Given the description of an element on the screen output the (x, y) to click on. 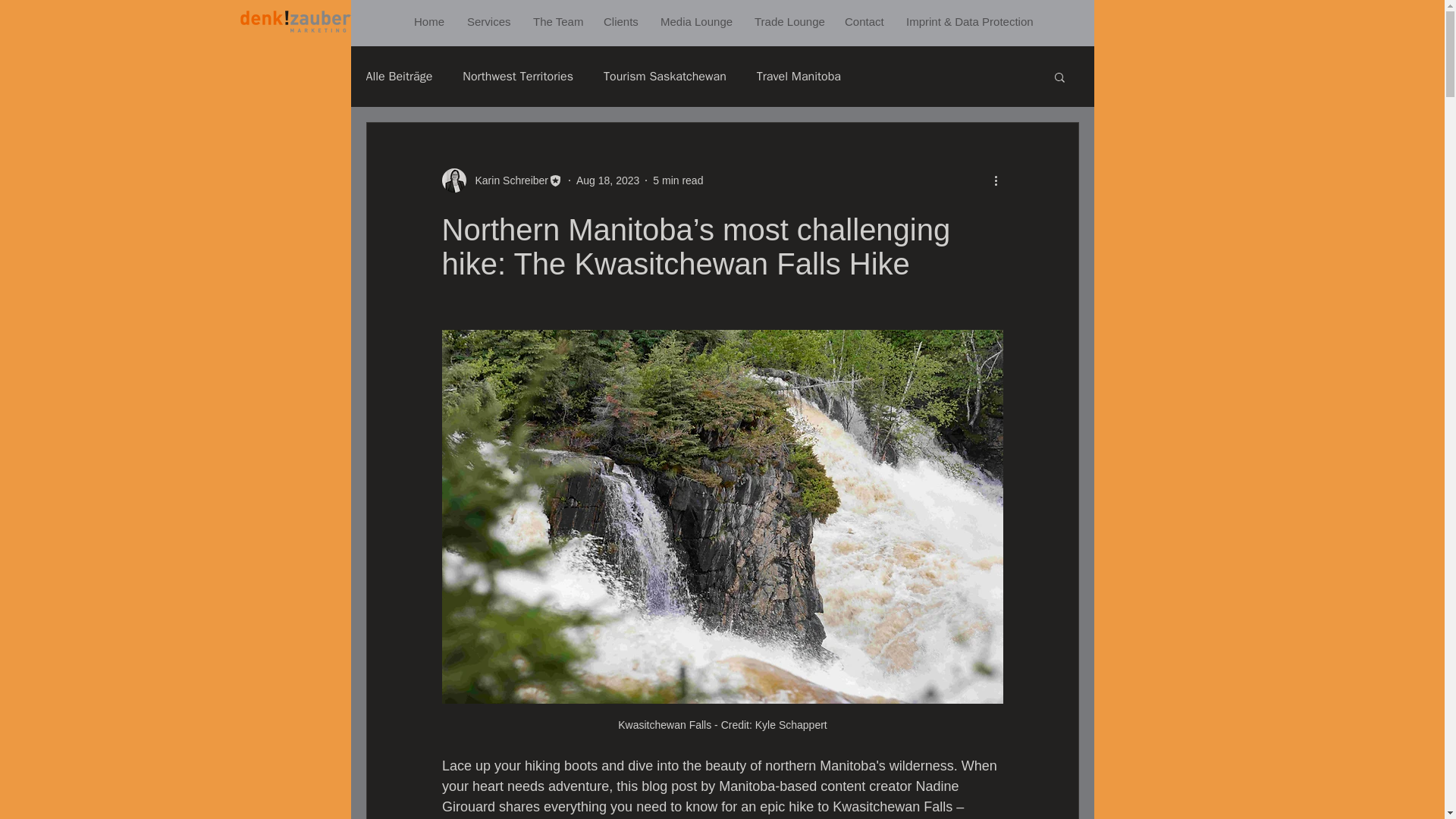
Media Lounge (695, 21)
Home (429, 21)
Services (488, 21)
Travel Manitoba (799, 75)
Log In (1043, 57)
Contact (863, 21)
Karin Schreiber (506, 180)
Tourism Saskatchewan (665, 75)
Aug 18, 2023 (607, 180)
Trade Lounge (787, 21)
